Given the description of an element on the screen output the (x, y) to click on. 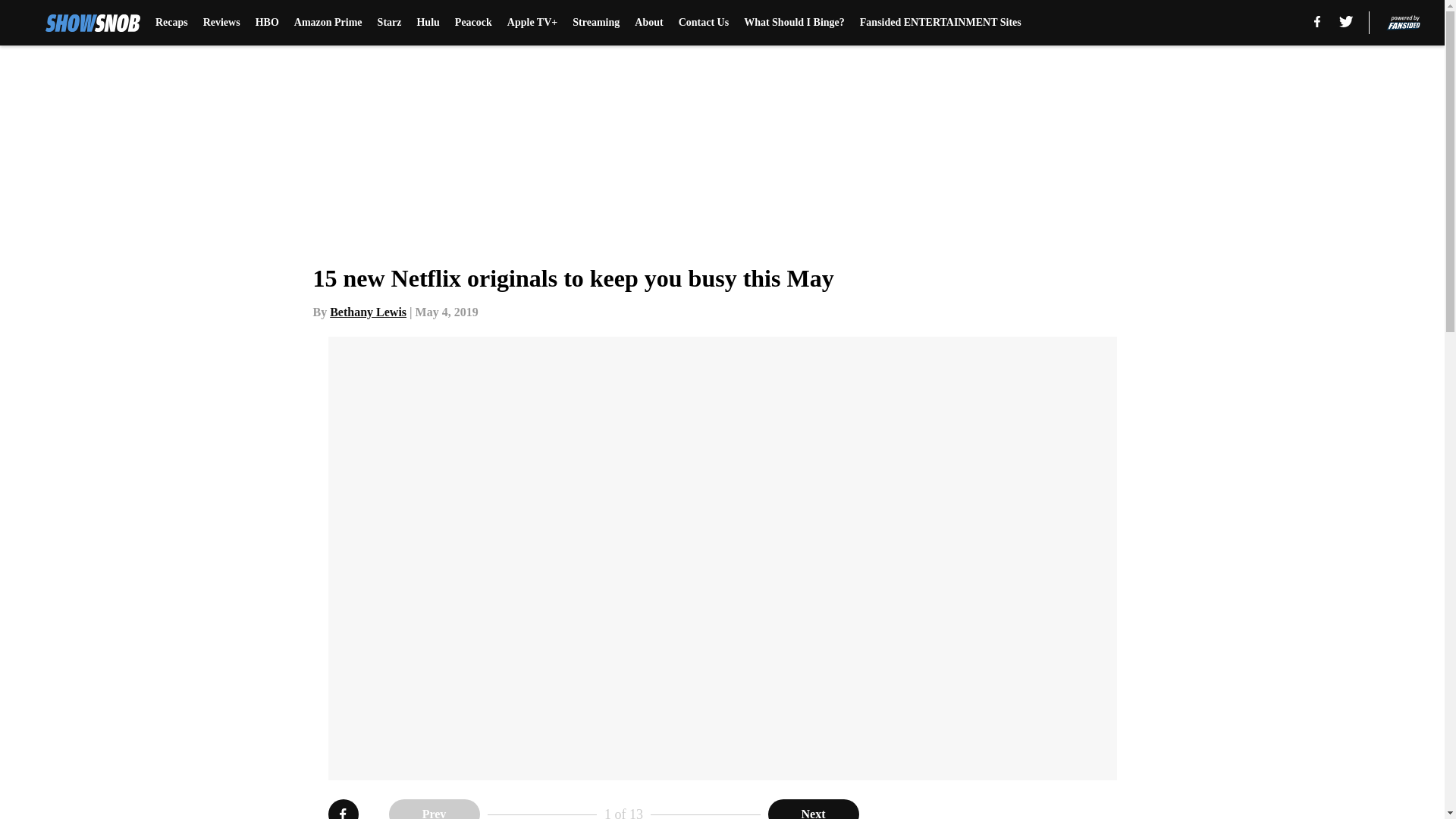
Contact Us (703, 22)
Amazon Prime (328, 22)
Starz (389, 22)
HBO (267, 22)
Prev (433, 809)
Recaps (171, 22)
Hulu (427, 22)
Next (813, 809)
About (648, 22)
Bethany Lewis (368, 311)
